Given the description of an element on the screen output the (x, y) to click on. 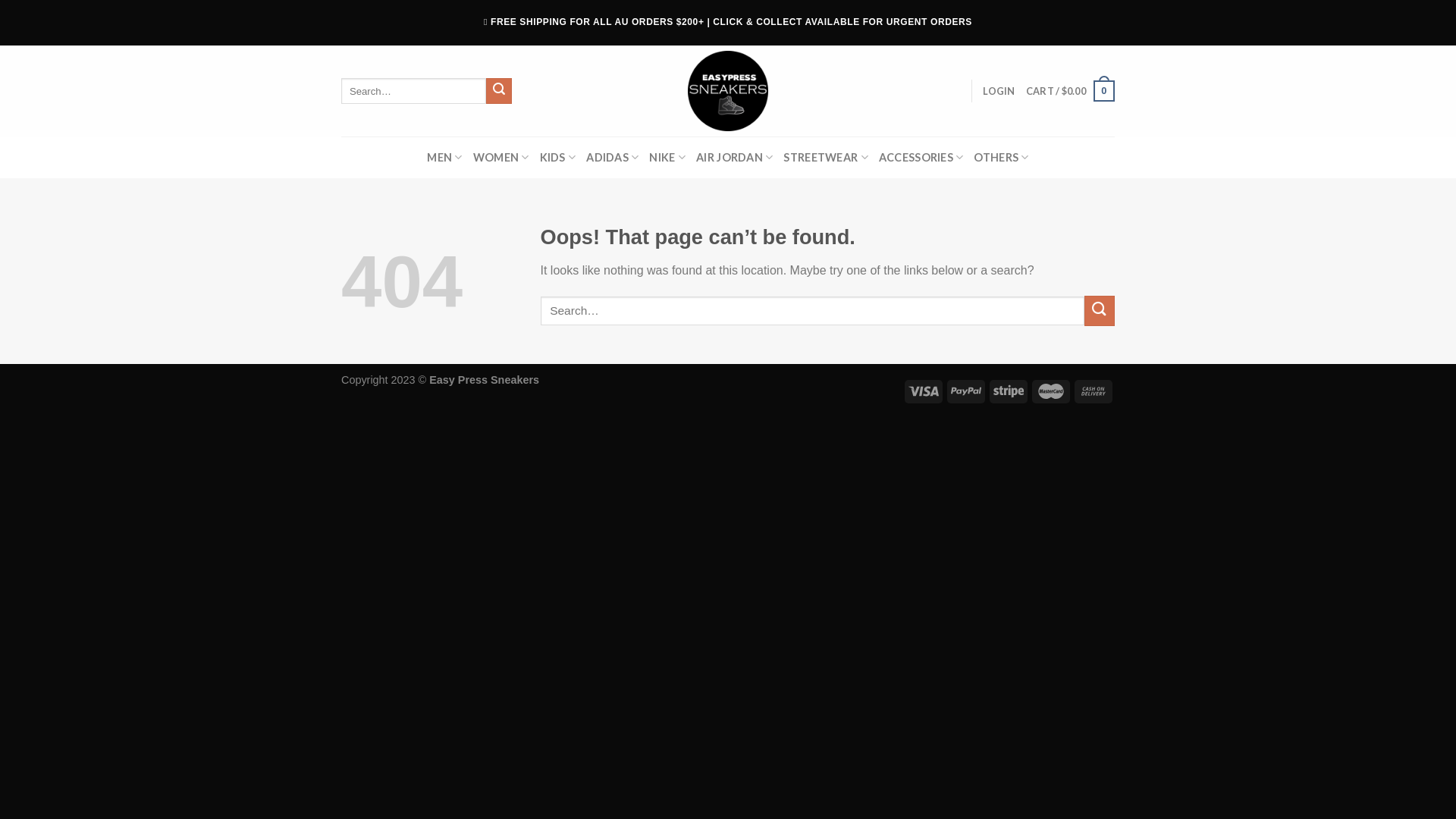
ADIDAS Element type: text (612, 157)
NIKE Element type: text (667, 157)
OTHERS Element type: text (1000, 157)
KIDS Element type: text (557, 157)
MEN Element type: text (443, 157)
EasyPressSneakers Element type: hover (727, 90)
AIR JORDAN Element type: text (734, 157)
LOGIN Element type: text (998, 90)
WOMEN Element type: text (501, 157)
Search Element type: text (498, 90)
STREETWEAR Element type: text (825, 157)
CART / $0.00
0 Element type: text (1070, 90)
ACCESSORIES Element type: text (920, 157)
